Given the description of an element on the screen output the (x, y) to click on. 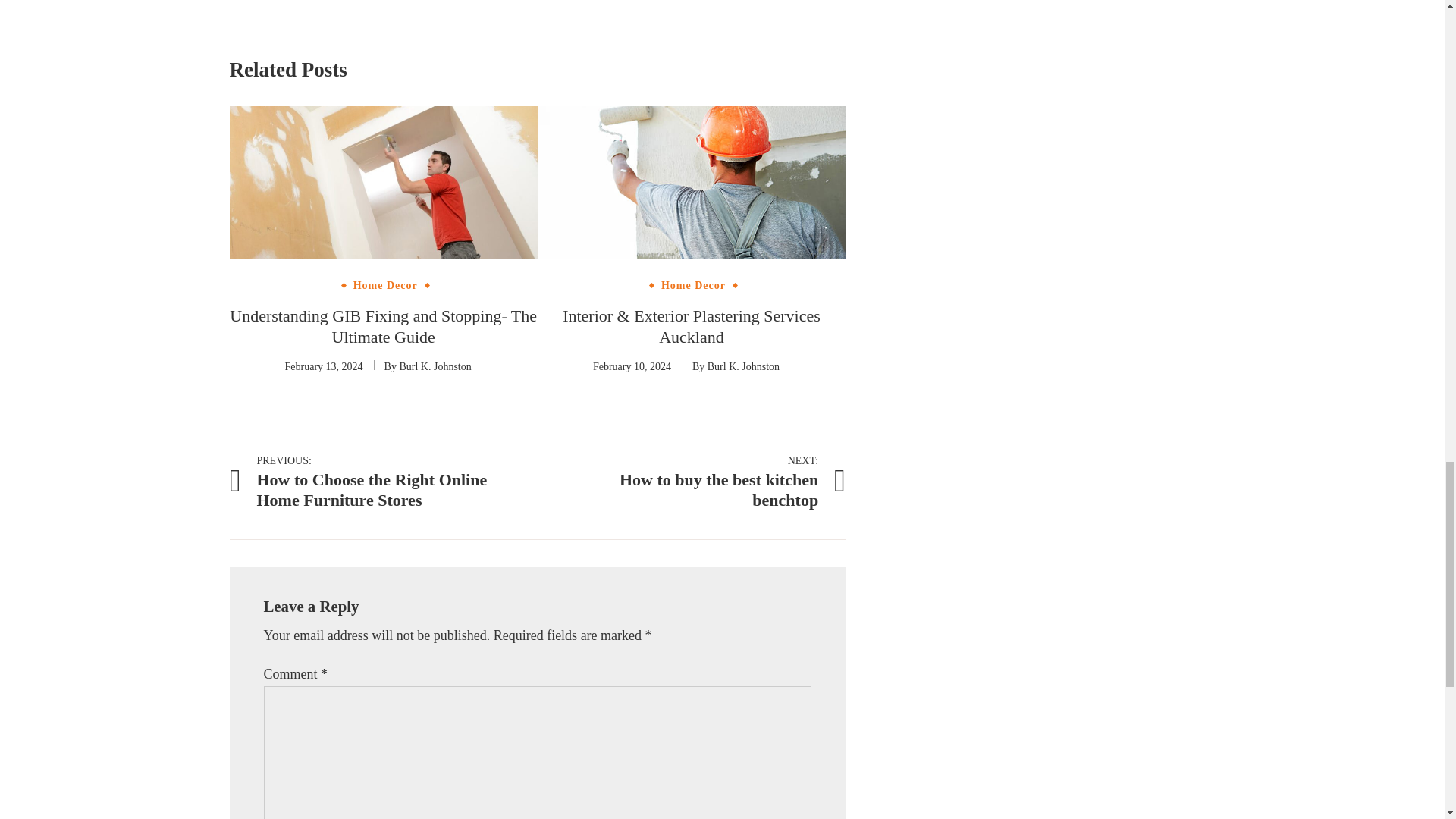
Understanding GIB Fixing and Stopping- The Ultimate Guide (383, 326)
Burl K. Johnston (742, 366)
Burl K. Johnston (434, 366)
Home Decor (385, 285)
Home Decor (691, 479)
February 10, 2024 (693, 285)
February 13, 2024 (631, 366)
